Given the description of an element on the screen output the (x, y) to click on. 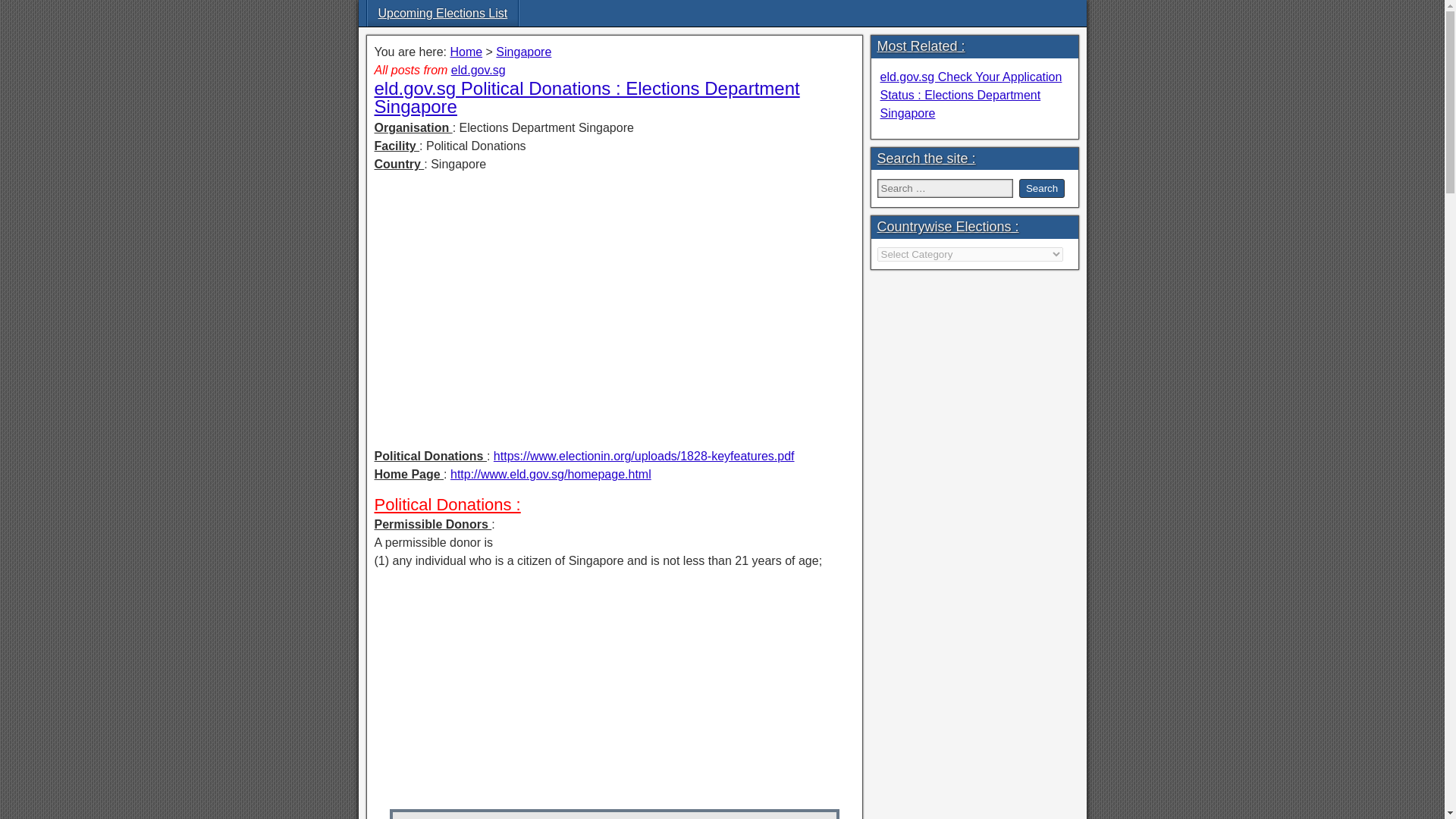
Search (1041, 188)
Search (1041, 188)
Advertisement (614, 687)
Search (1041, 188)
Singapore (523, 51)
Advertisement (614, 291)
eld.gov.sg (478, 69)
Singapore (523, 51)
Home (465, 51)
Upcoming Elections List (442, 13)
